Given the description of an element on the screen output the (x, y) to click on. 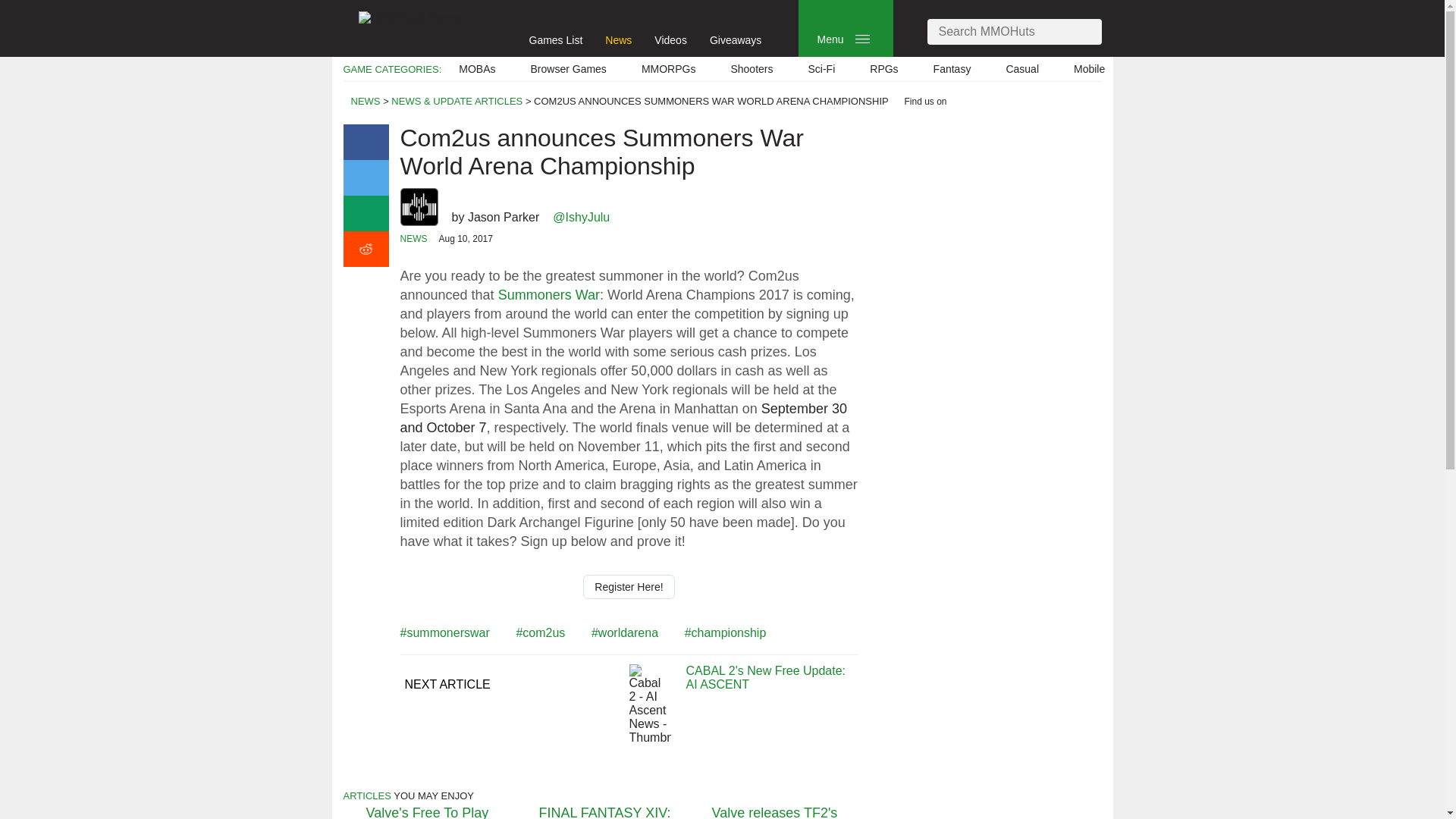
Giveaways (735, 39)
Sci-Fi (821, 69)
Go to All Videos (670, 39)
Casual (1022, 69)
Browser Games (569, 69)
MOBAs (476, 69)
Games List (556, 39)
Visit the Browser Games List (569, 69)
NEWS (365, 101)
Mobile (1089, 69)
